Given the description of an element on the screen output the (x, y) to click on. 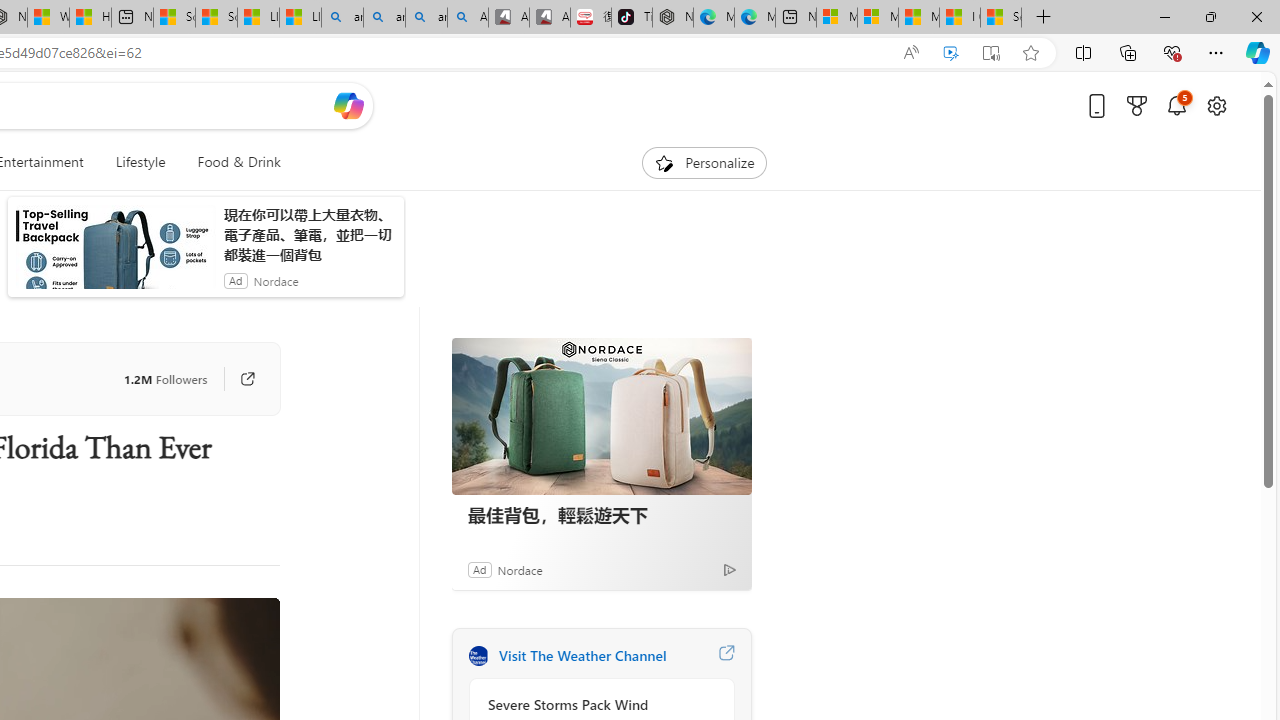
New tab (795, 17)
To get missing image descriptions, open the context menu. (664, 162)
Collections (1128, 52)
Food & Drink (230, 162)
Split screen (1083, 52)
Personalize (703, 162)
Amazon Echo Robot - Search Images (467, 17)
Open settings (1216, 105)
Copilot (Ctrl+Shift+.) (1258, 52)
All Cubot phones (549, 17)
Visit The Weather Channel website (726, 655)
